Given the description of an element on the screen output the (x, y) to click on. 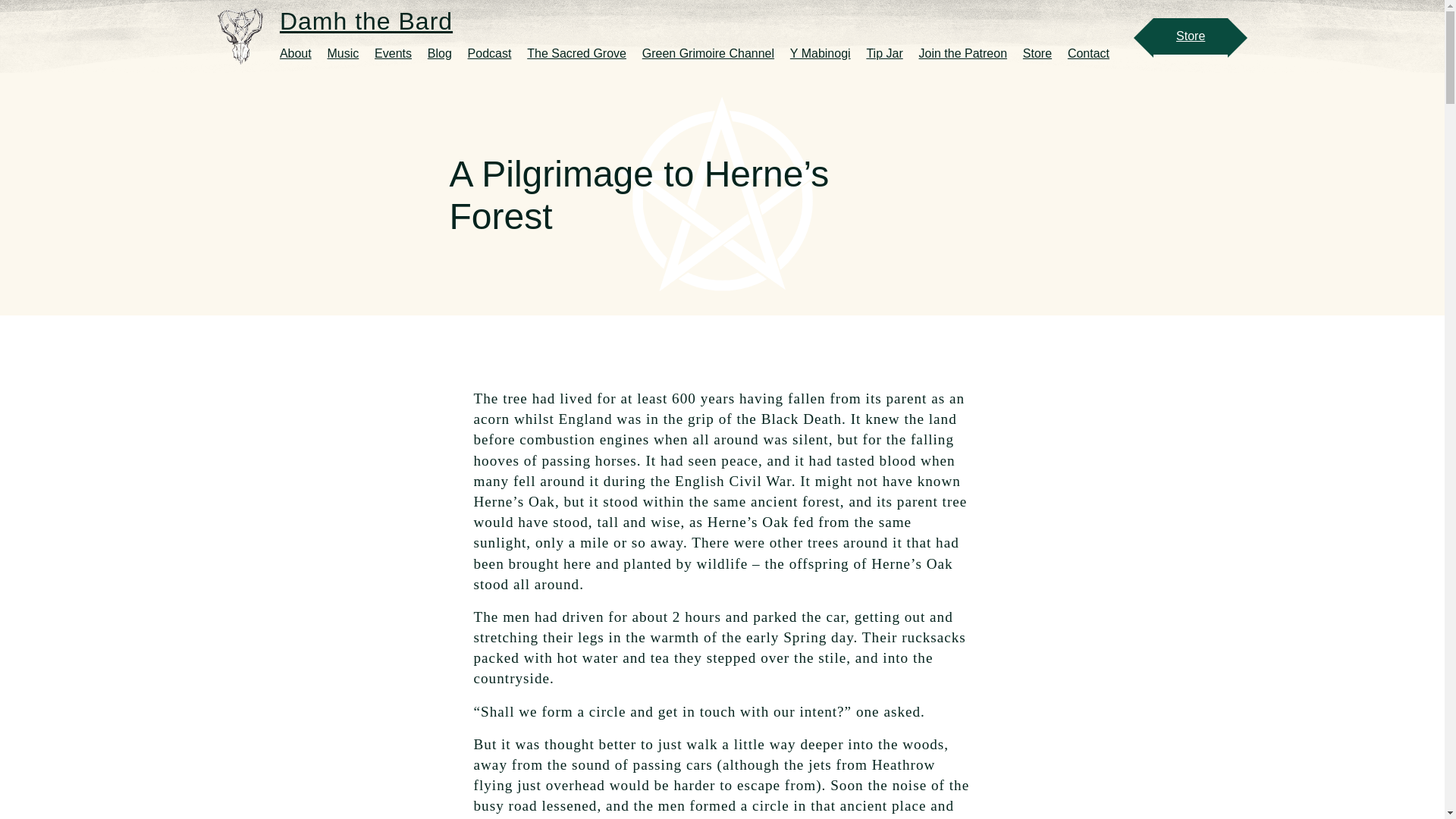
Green Grimoire Channel (714, 52)
Podcast (495, 52)
Events (398, 52)
Y Mabinogi (826, 52)
Damh the Bard (706, 27)
Store (1043, 52)
The Sacred Grove (583, 52)
About (301, 52)
Store (1190, 36)
Contact (1094, 52)
Join the Patreon (969, 52)
Tip Jar (890, 52)
Music (348, 52)
Blog (446, 52)
